Given the description of an element on the screen output the (x, y) to click on. 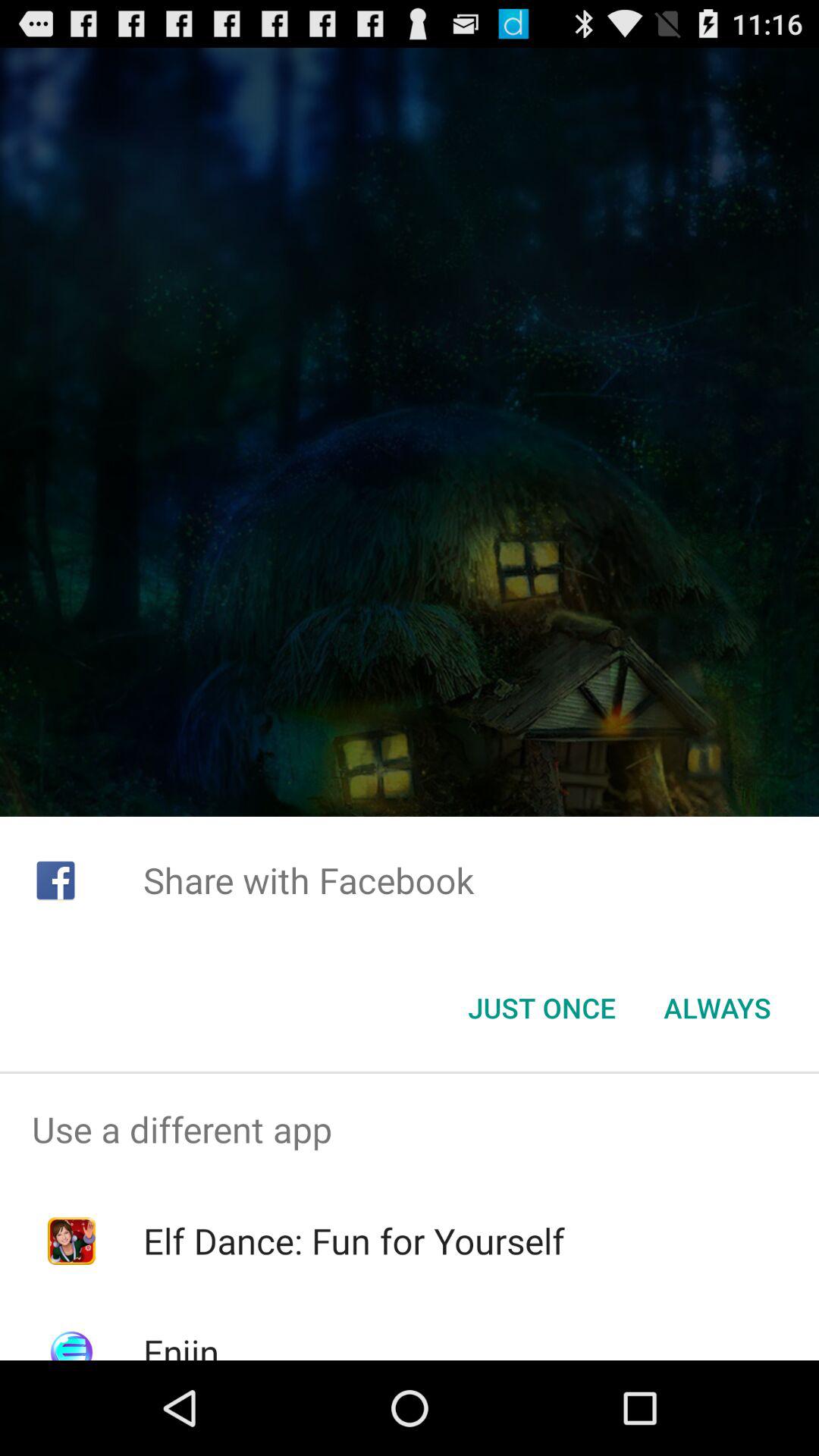
open the app below the share with facebook app (541, 1007)
